Given the description of an element on the screen output the (x, y) to click on. 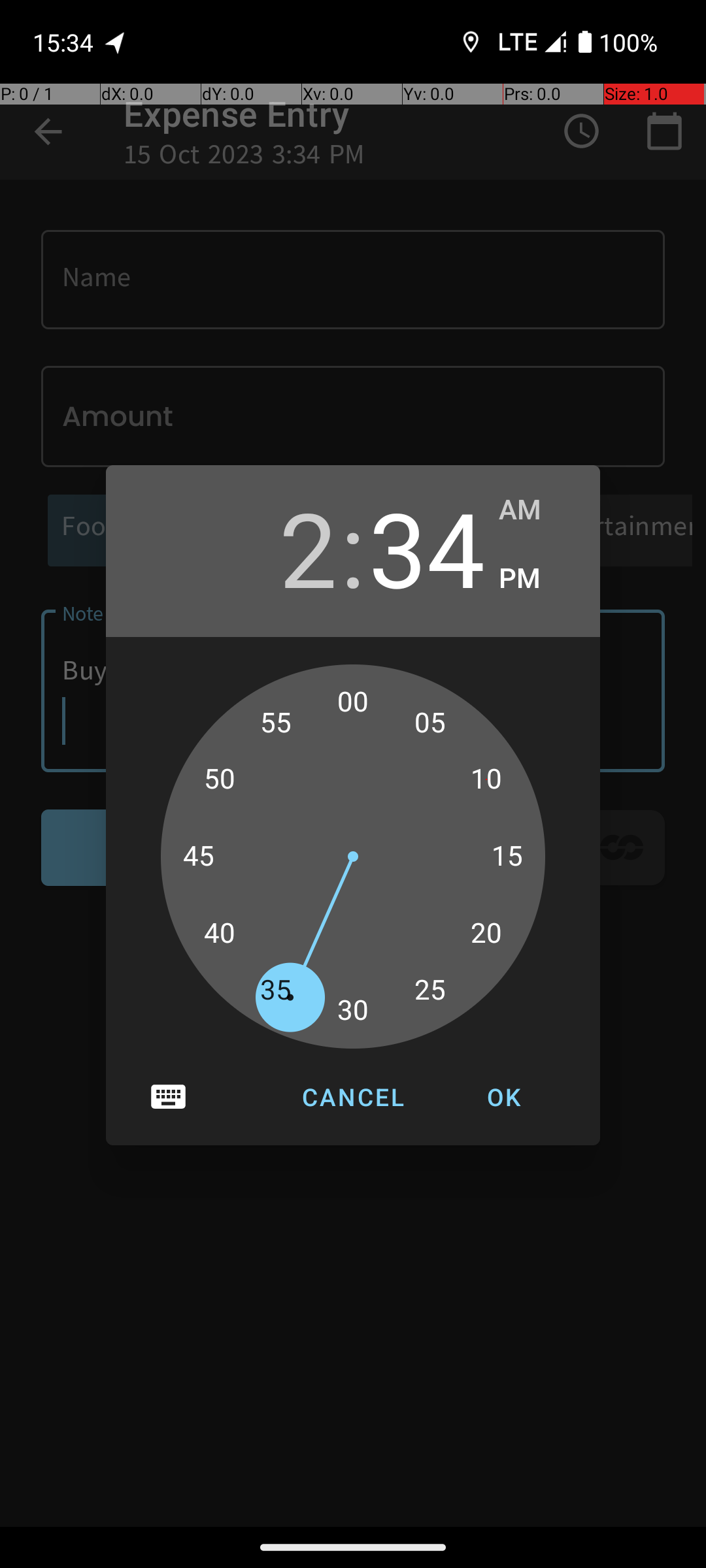
34 Element type: android.widget.TextView (426, 547)
